Given the description of an element on the screen output the (x, y) to click on. 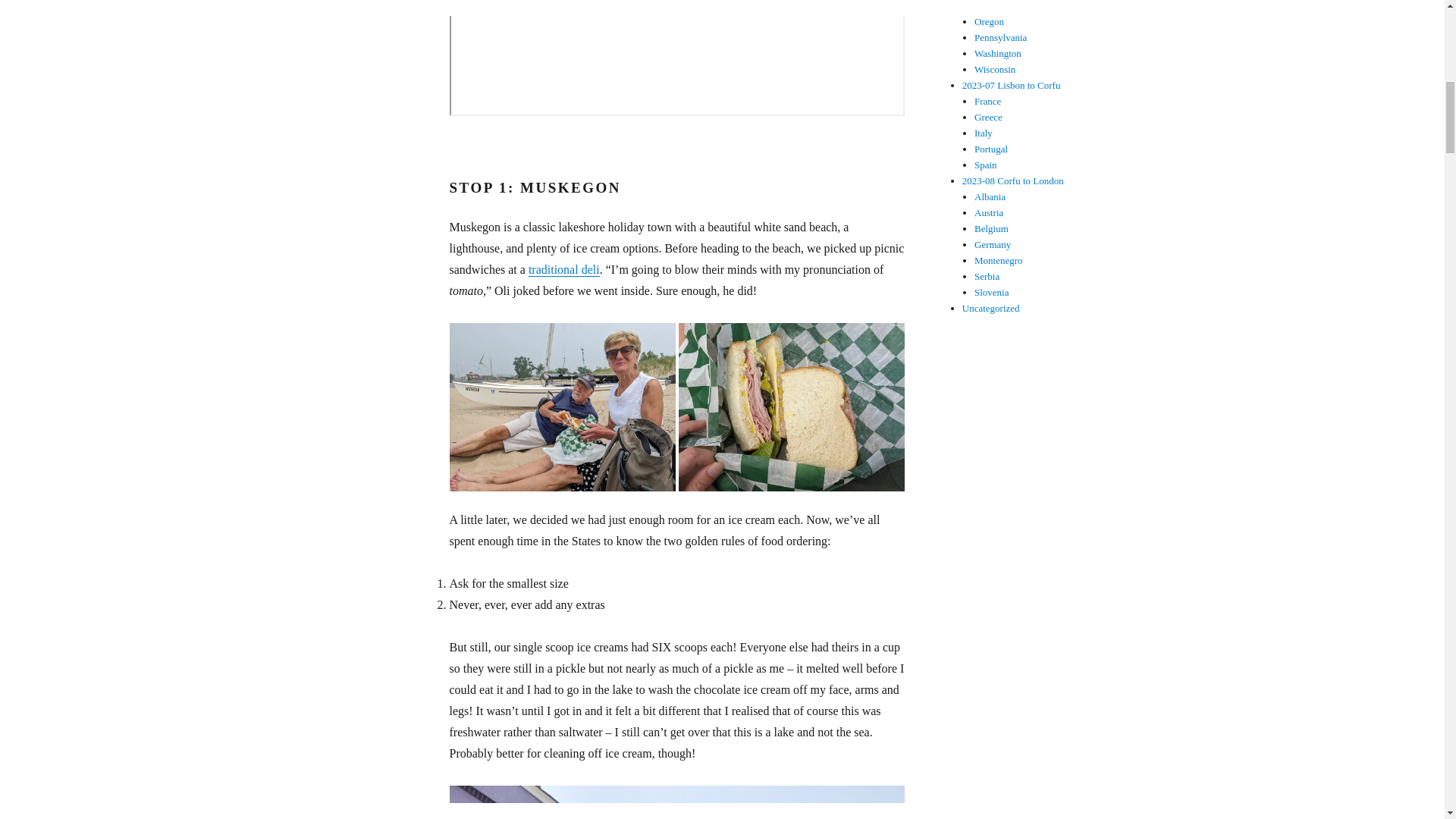
traditional deli (563, 269)
